Given the description of an element on the screen output the (x, y) to click on. 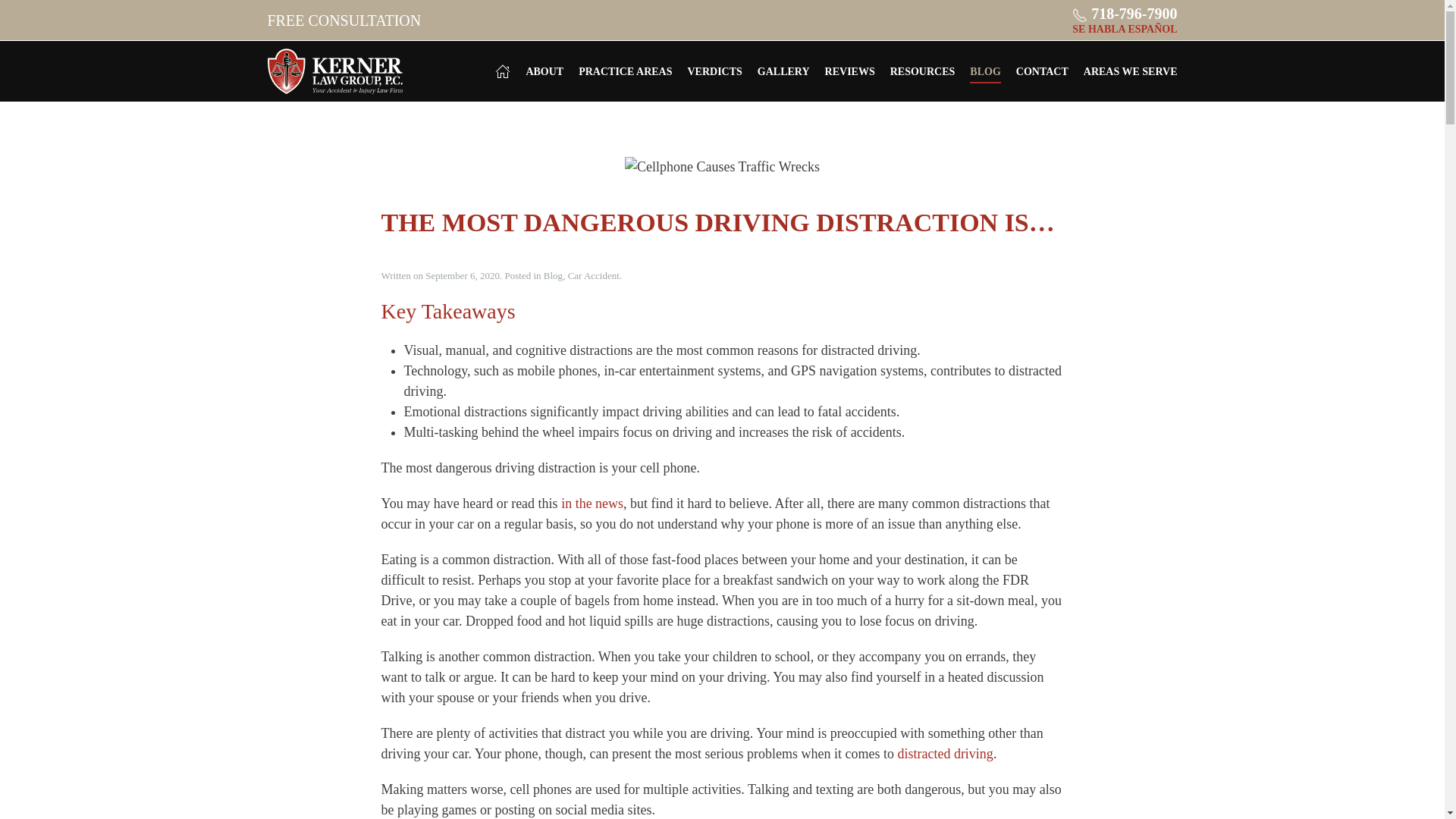
VERDICTS (714, 70)
718-796-7900 (1133, 13)
RESOURCES (922, 70)
FREE CONSULTATION (343, 20)
PRACTICE AREAS (624, 70)
